Given the description of an element on the screen output the (x, y) to click on. 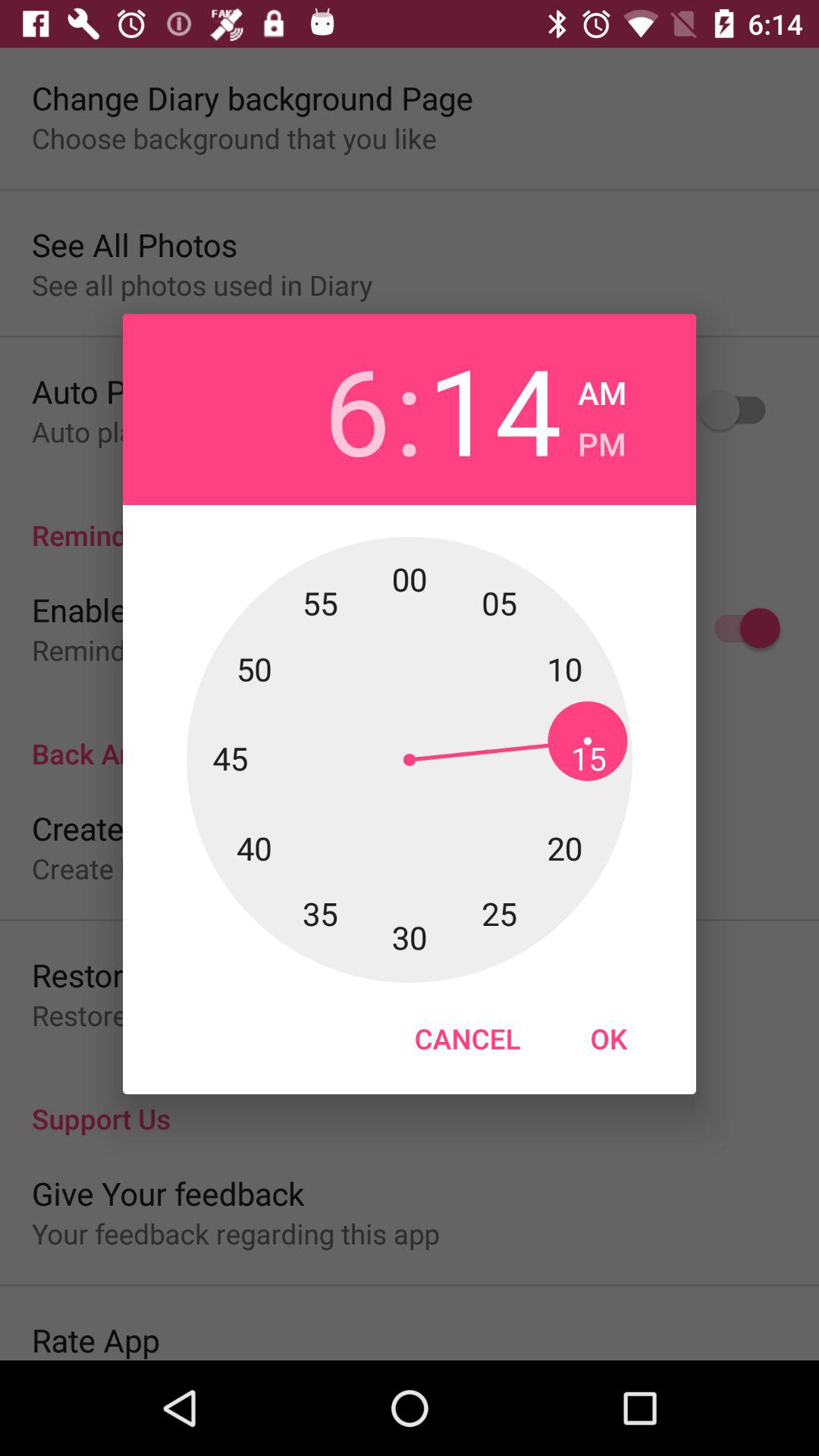
jump to the cancel button (467, 1038)
